Given the description of an element on the screen output the (x, y) to click on. 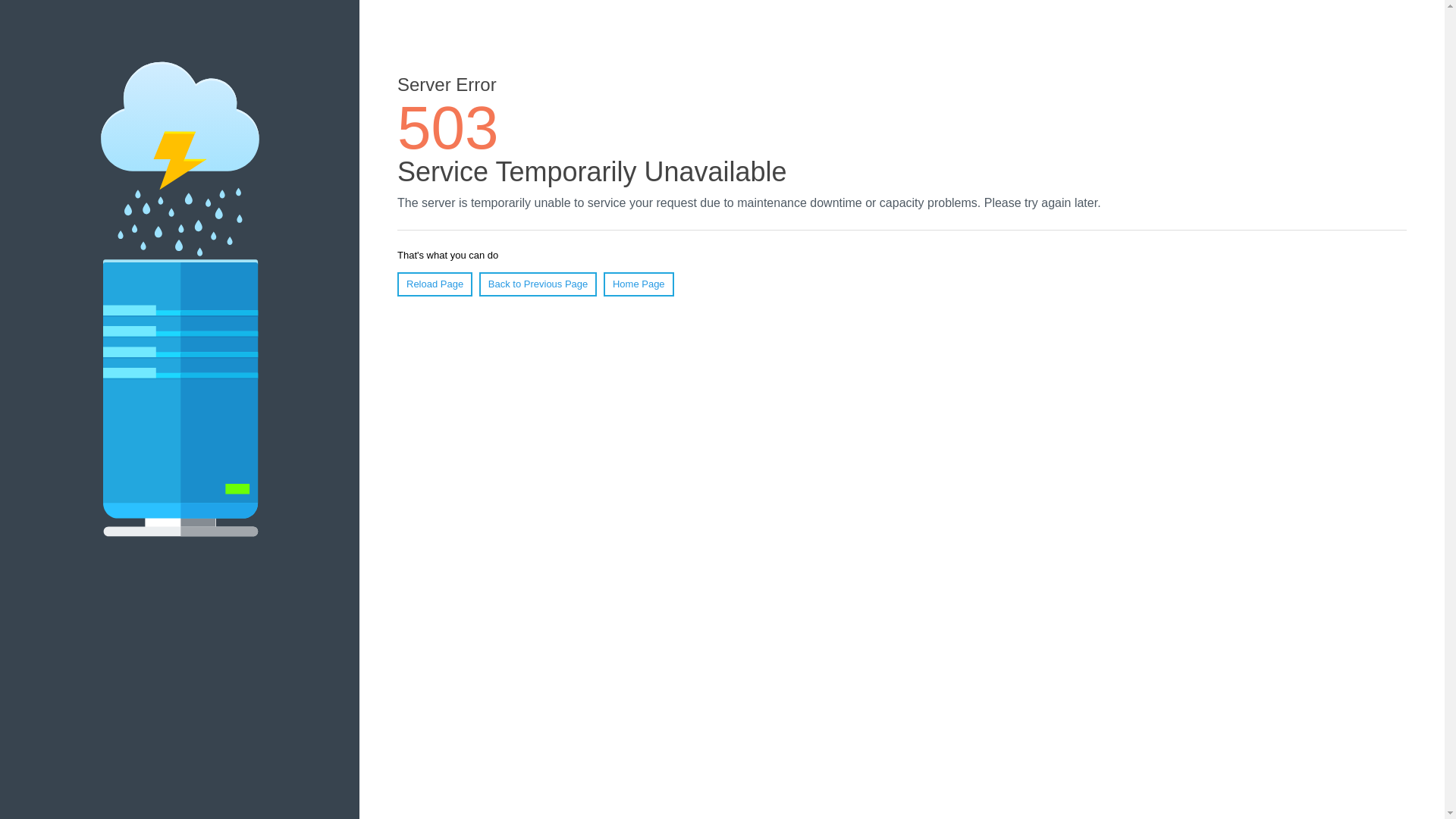
Reload Page Element type: text (434, 284)
Home Page Element type: text (638, 284)
Back to Previous Page Element type: text (538, 284)
